Given the description of an element on the screen output the (x, y) to click on. 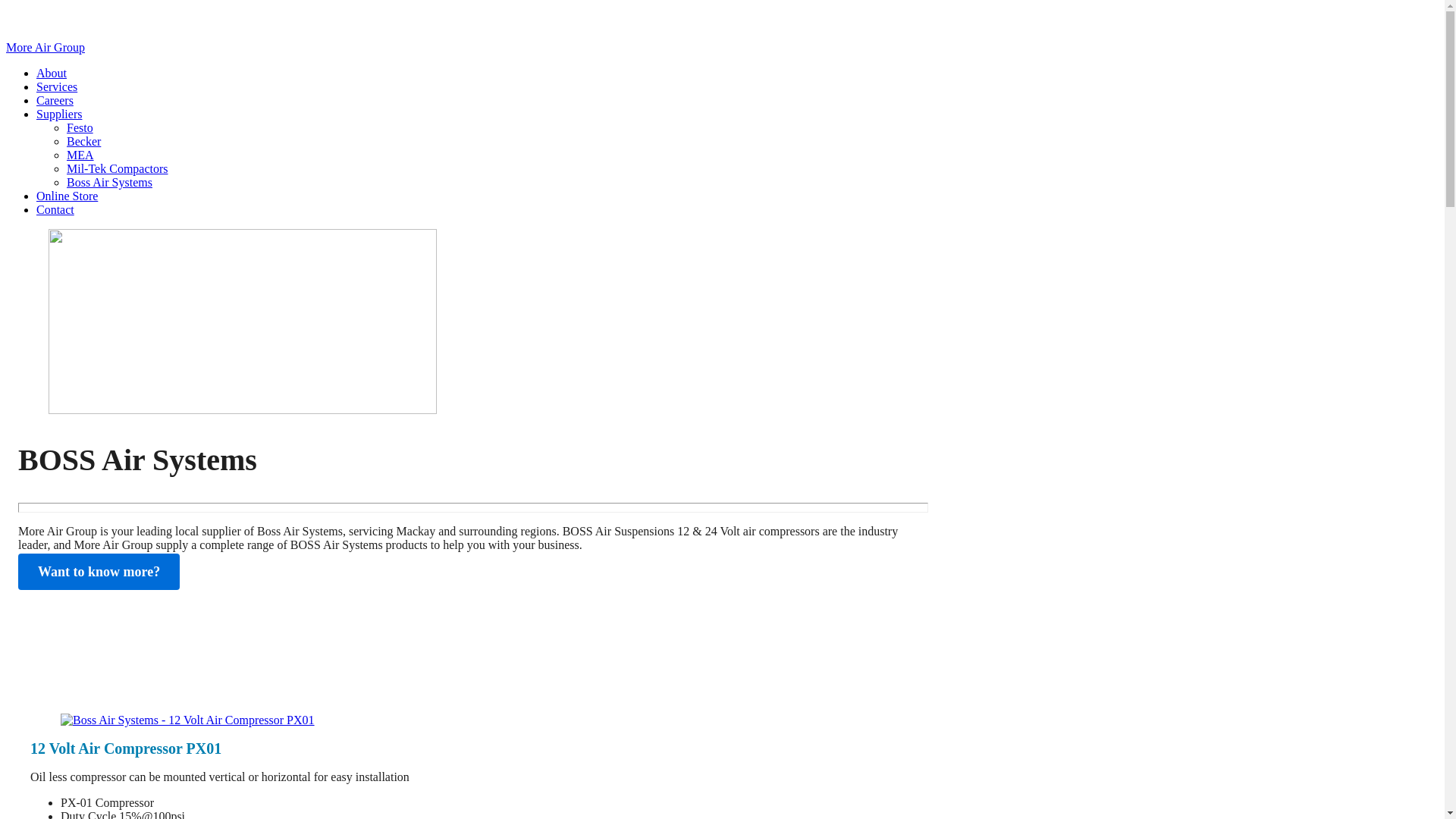
Services Element type: text (56, 86)
About Element type: text (51, 72)
Contact Element type: text (55, 209)
Suppliers Element type: text (58, 113)
MEA Element type: text (80, 154)
Want to know more? Element type: text (98, 571)
Mil-Tek Compactors Element type: text (117, 168)
Careers Element type: text (54, 100)
Boss Air Systems Element type: text (109, 181)
More Air Group Element type: text (45, 46)
Online Store Element type: text (66, 195)
Festo Element type: text (79, 127)
Becker Element type: text (83, 140)
